Given the description of an element on the screen output the (x, y) to click on. 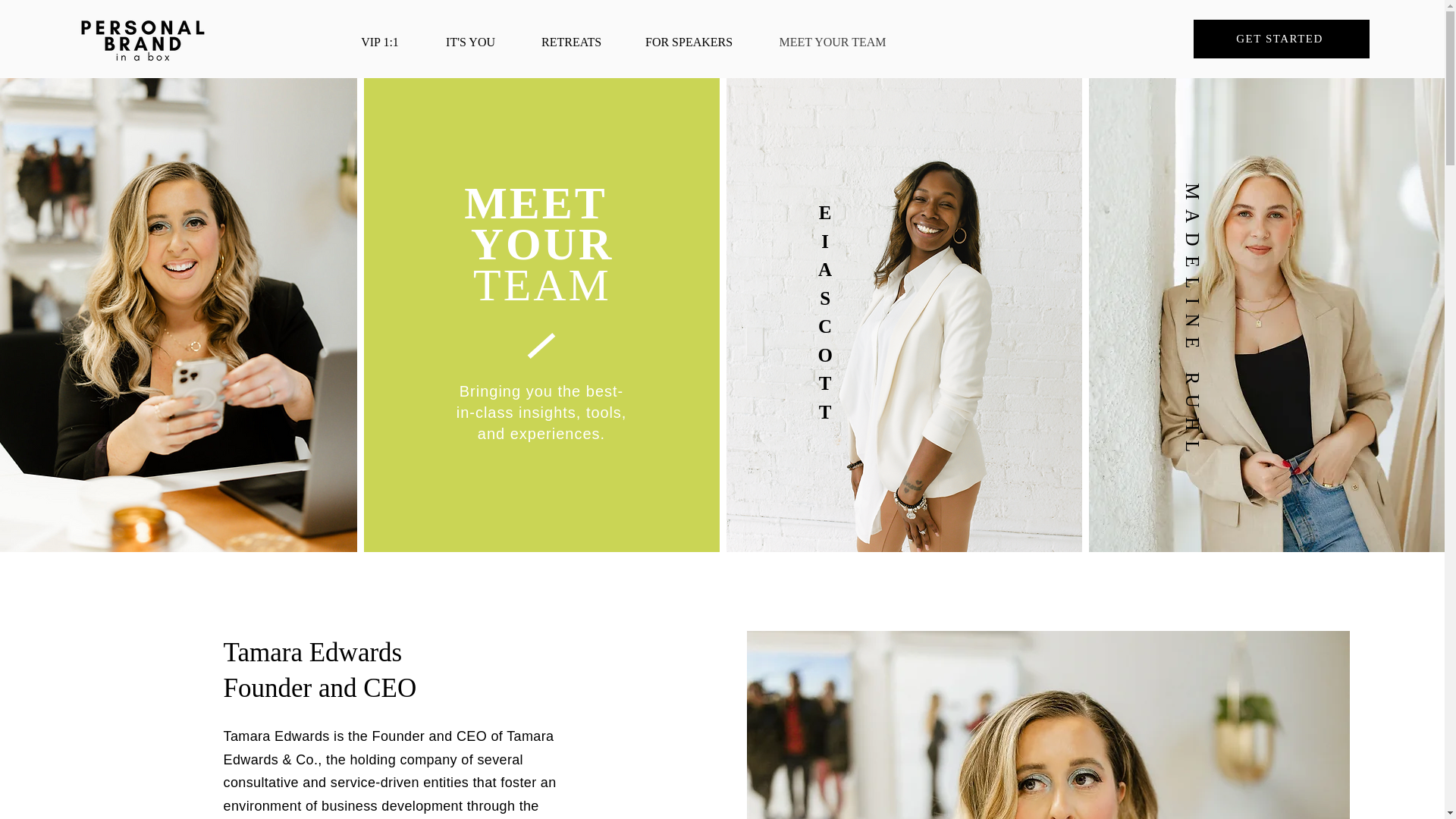
Personal Brand Box .com.png (144, 38)
MEET YOUR TEAM (833, 39)
VIP 1:1 (380, 39)
IT'S YOU (470, 39)
GET STARTED (1281, 38)
FOR SPEAKERS (689, 39)
RETREATS (571, 39)
